Given the description of an element on the screen output the (x, y) to click on. 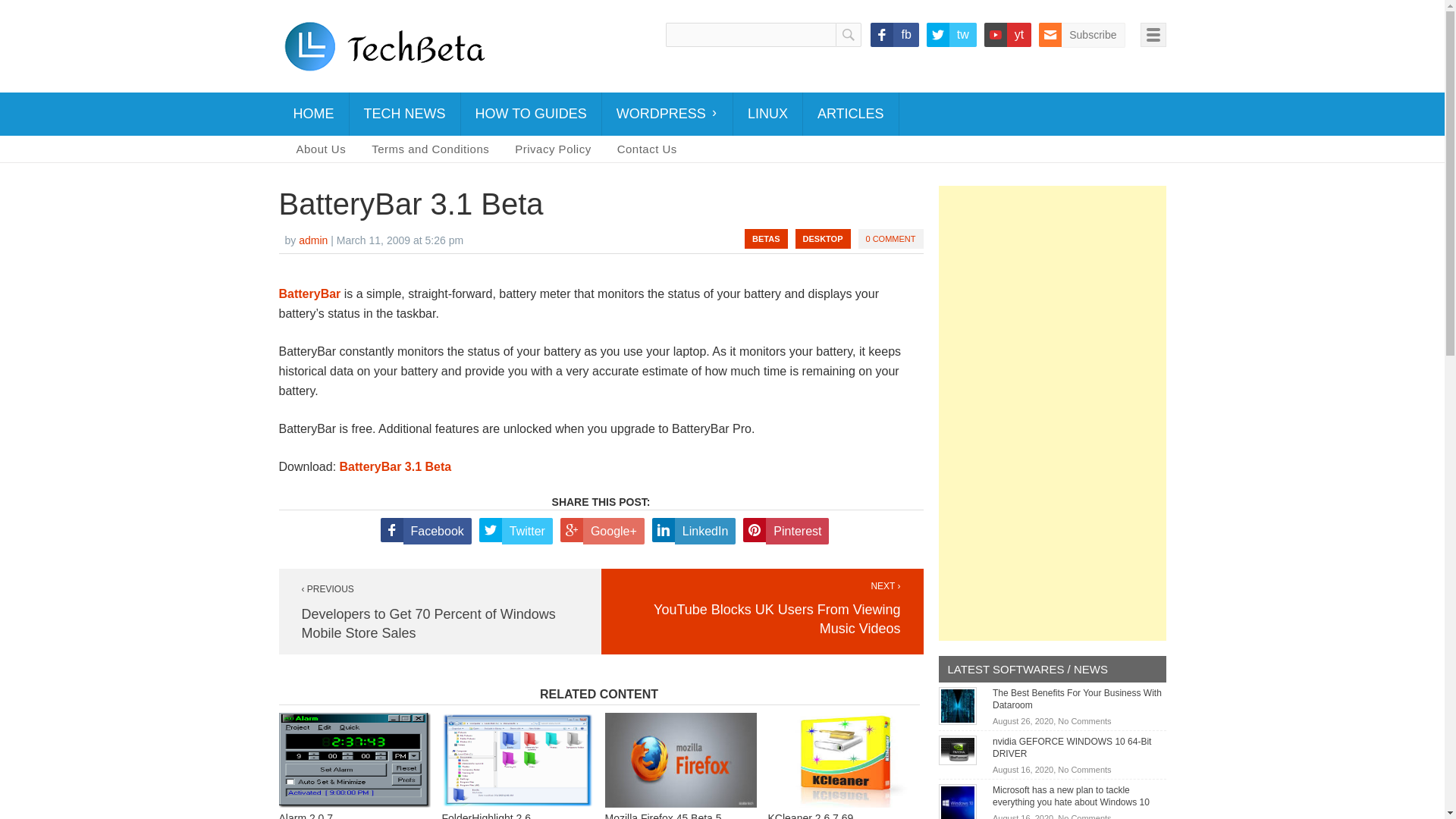
View all posts by admin (312, 240)
The Best Benefits For Your Business With Dataroom (957, 705)
HOME (314, 113)
yt (1007, 34)
The Best Benefits For Your Business With Dataroom (1076, 698)
Open Menu (1153, 34)
fb (894, 34)
WORDPRESS (667, 113)
HOW TO GUIDES (531, 113)
